Given the description of an element on the screen output the (x, y) to click on. 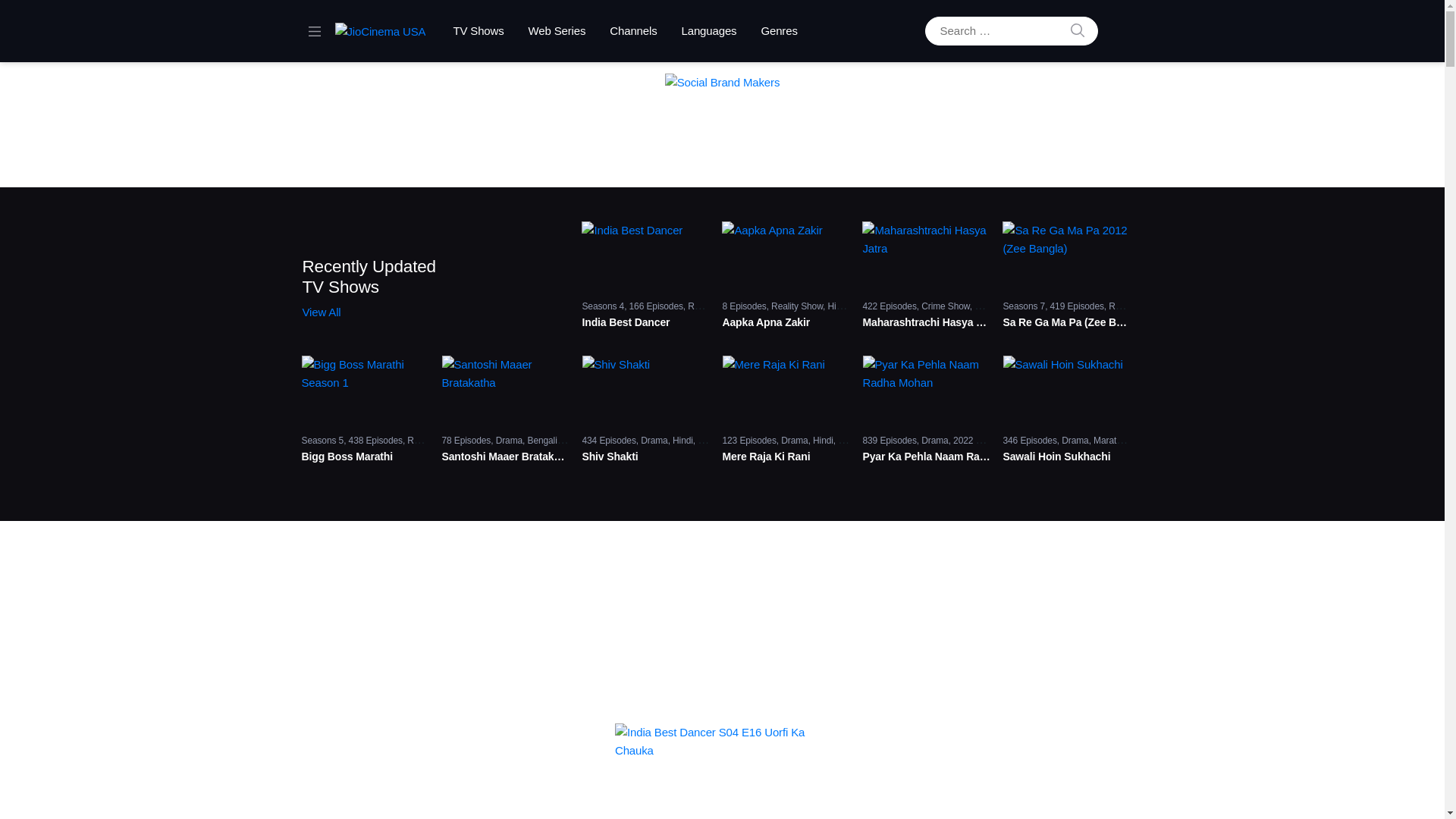
Web Series (557, 30)
Channels (632, 30)
Languages (709, 30)
Genres (778, 30)
Watch Dramas, Serials, TV Shows and Entertainment (380, 31)
TV Shows (478, 30)
